Given the description of an element on the screen output the (x, y) to click on. 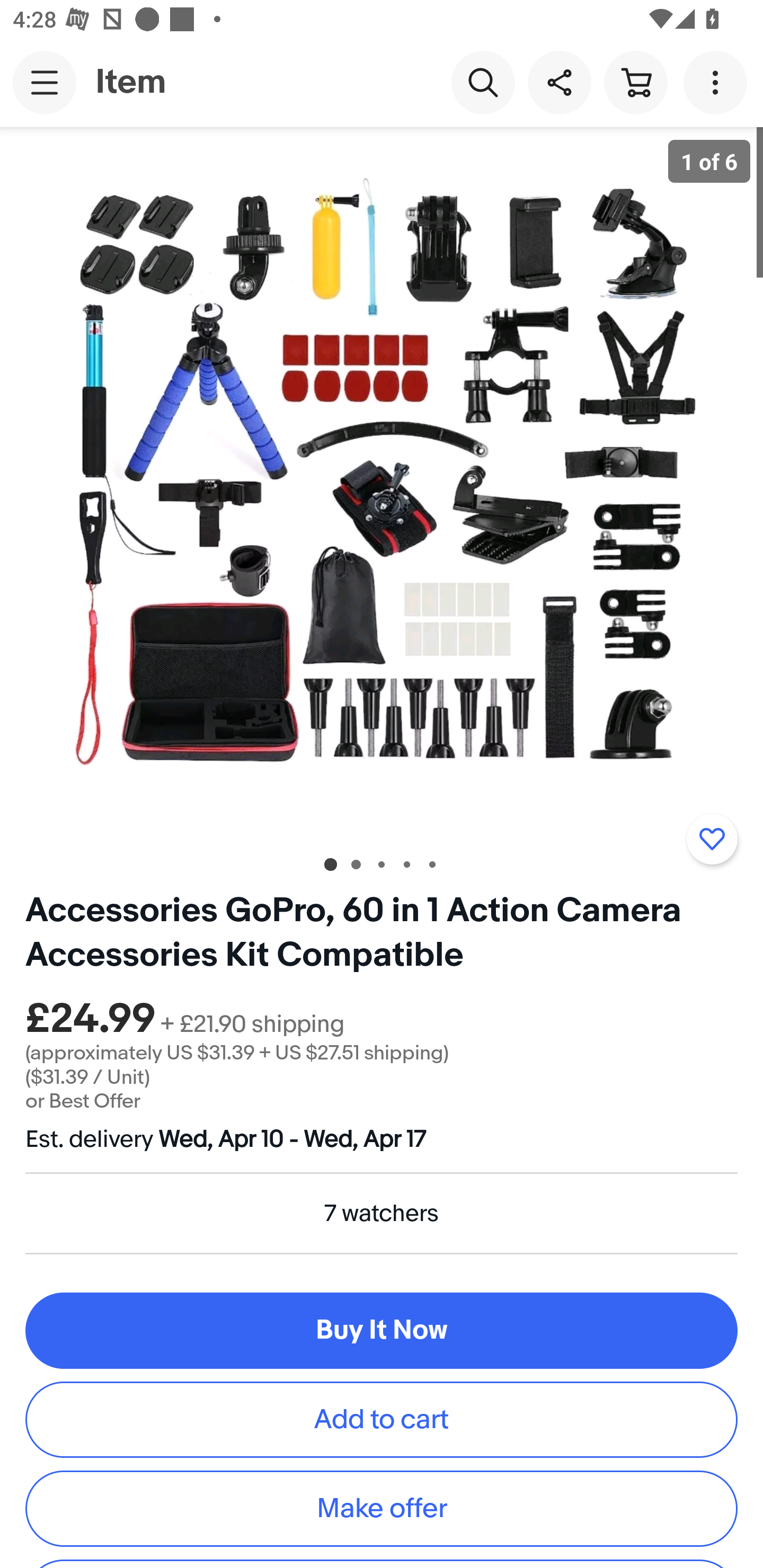
Main navigation, open (44, 82)
Search (482, 81)
Share this item (559, 81)
Cart button shopping cart (635, 81)
More options (718, 81)
Item image 1 of 6 (381, 482)
Add to watchlist (711, 838)
Buy It Now (381, 1330)
Add to cart (381, 1419)
Make offer (381, 1508)
